Given the description of an element on the screen output the (x, y) to click on. 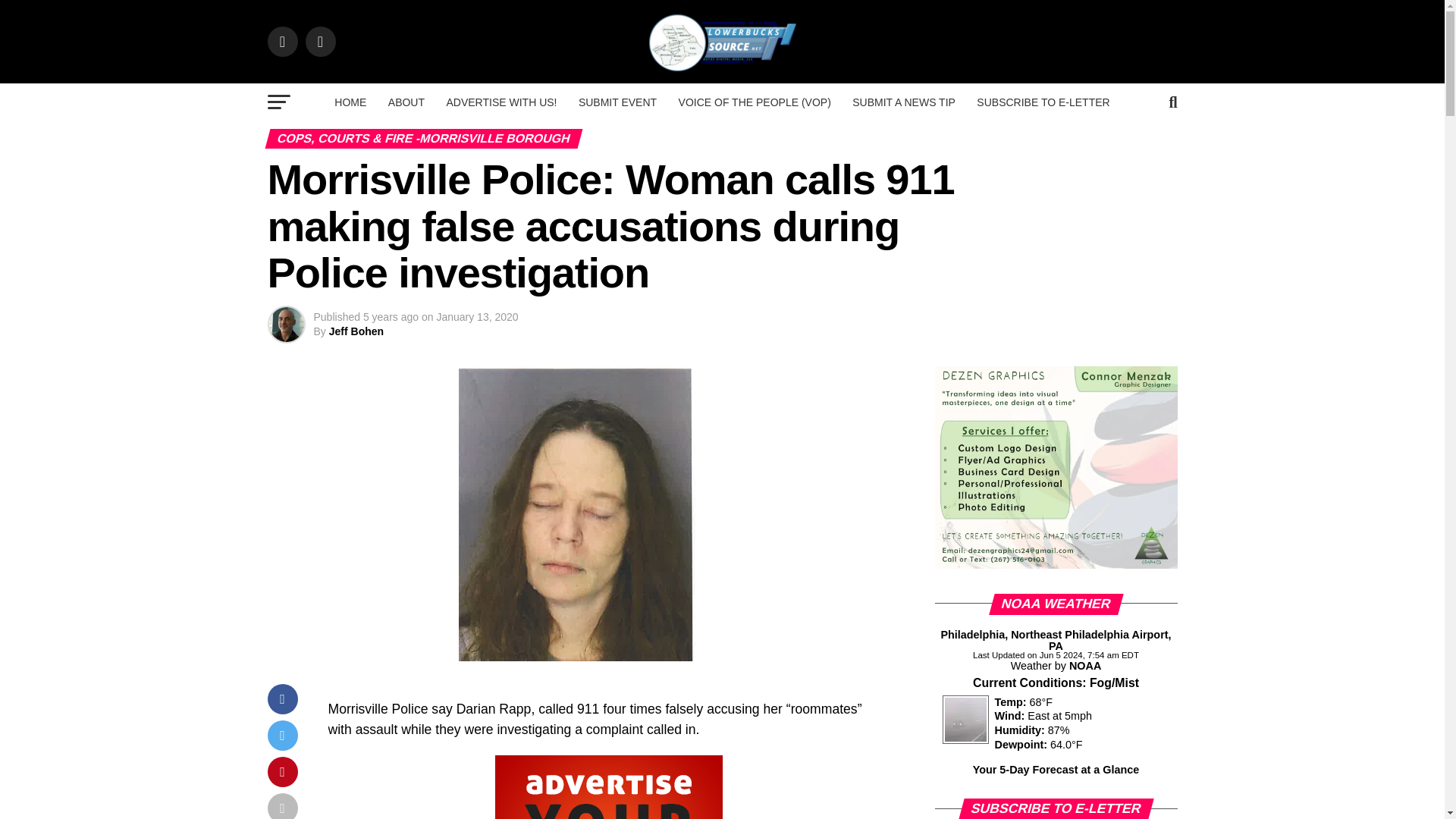
SUBSCRIBE TO E-LETTER (1043, 102)
HOME (349, 102)
SUBMIT EVENT (617, 102)
Posts by Jeff Bohen (356, 331)
SUBMIT A NEWS TIP (903, 102)
ABOUT (405, 102)
ADVERTISE WITH US! (501, 102)
Jeff Bohen (356, 331)
